Given the description of an element on the screen output the (x, y) to click on. 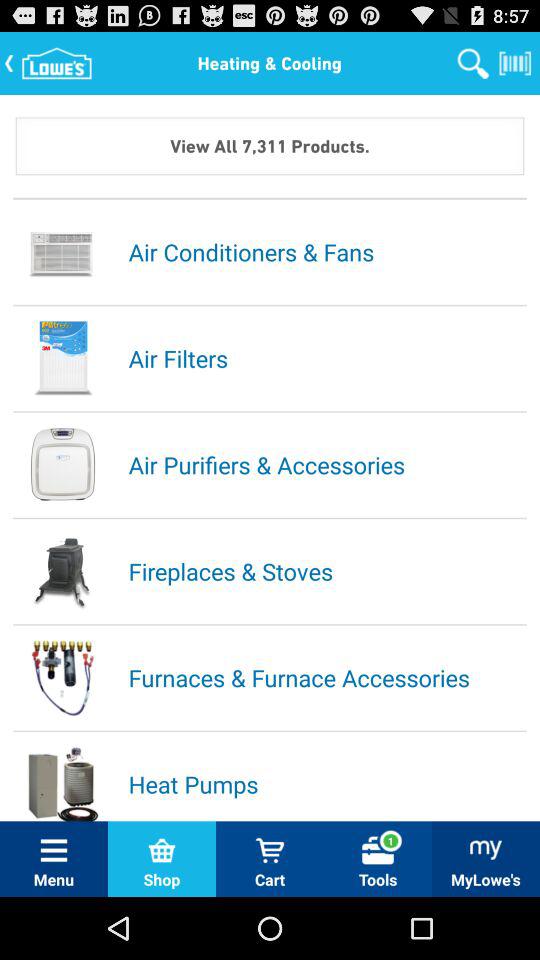
turn off the app above heat pumps (326, 677)
